Given the description of an element on the screen output the (x, y) to click on. 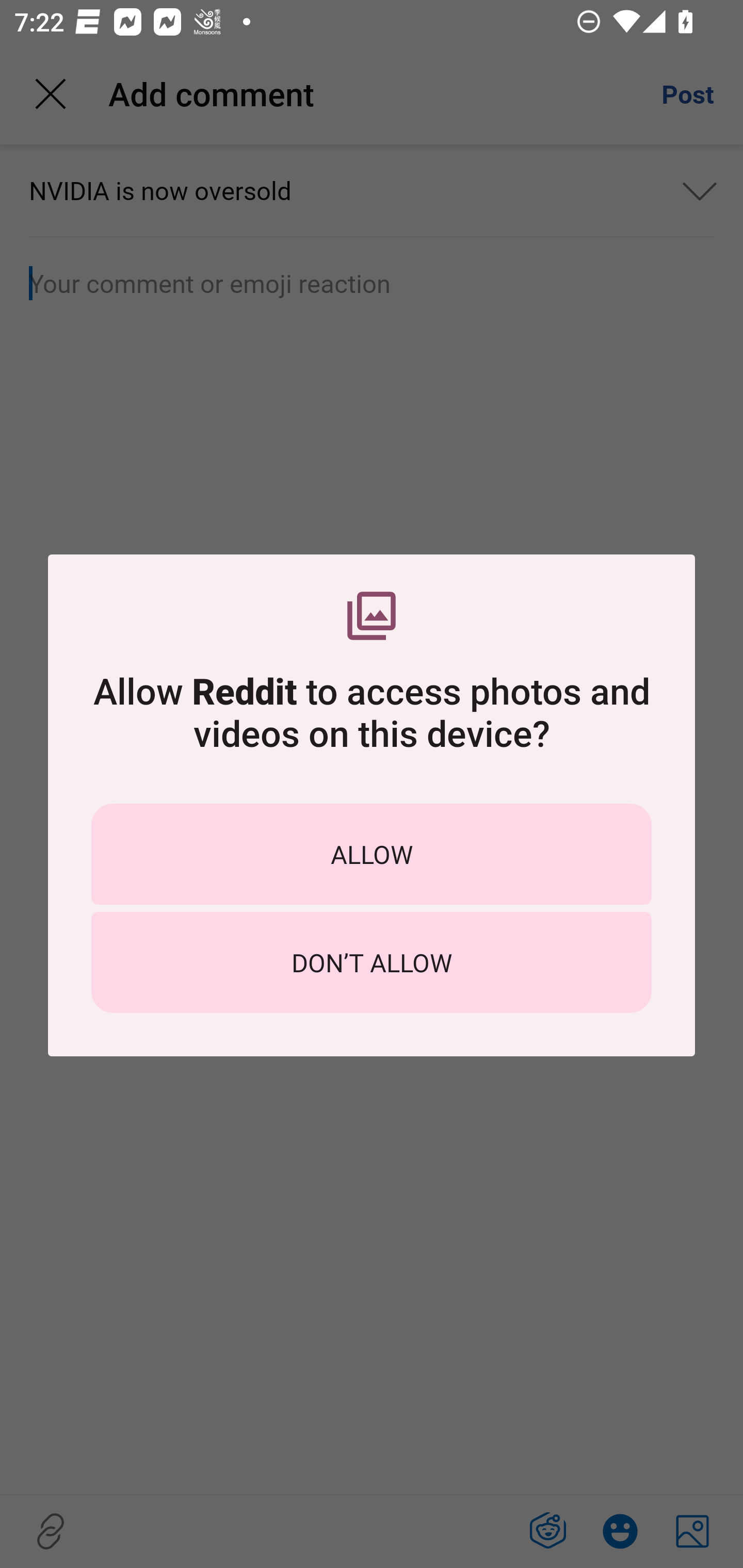
ALLOW (371, 853)
DON’T ALLOW (371, 962)
